Given the description of an element on the screen output the (x, y) to click on. 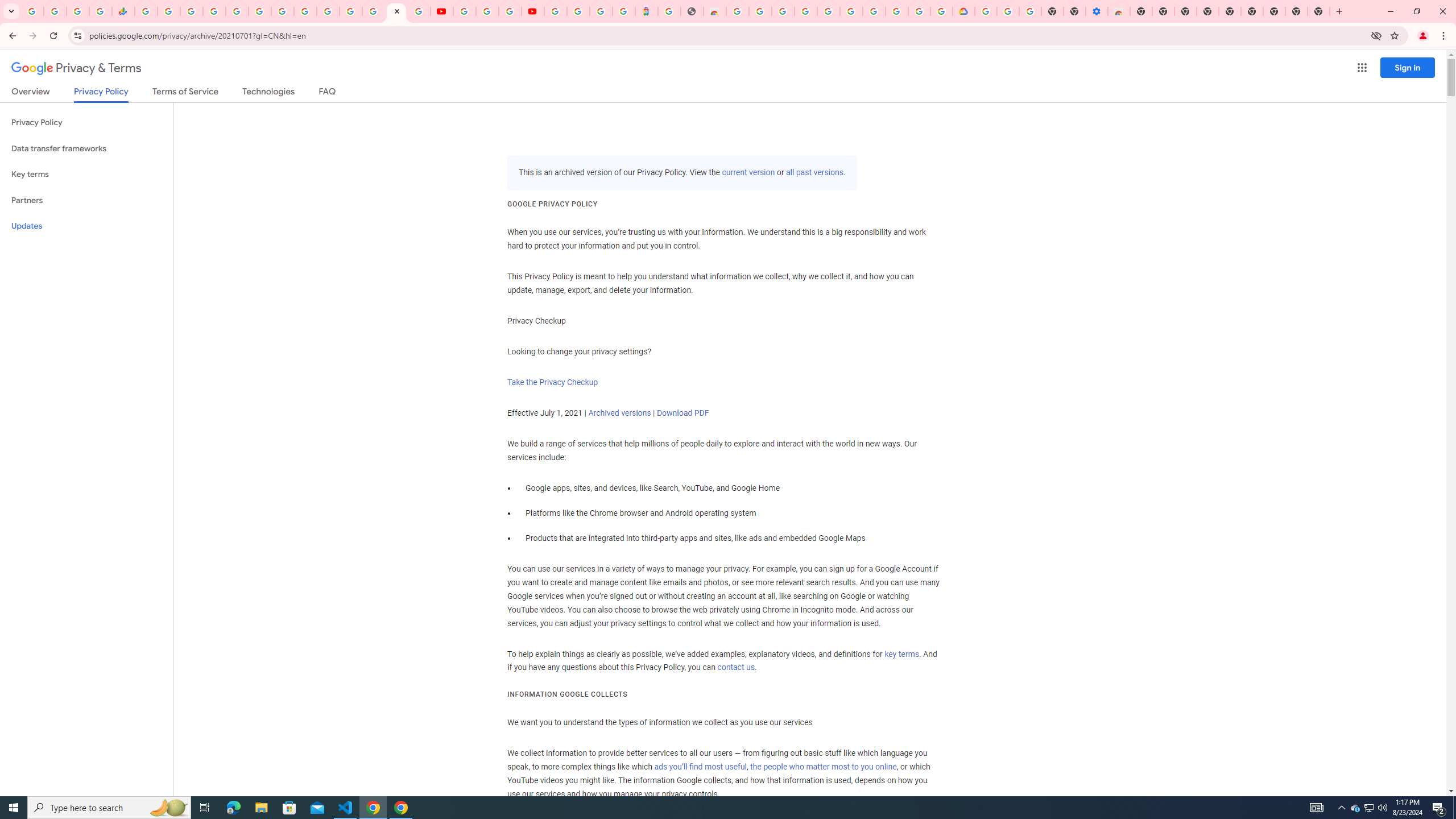
New Tab (1141, 11)
Settings - Accessibility (1096, 11)
the people who matter most to you online (822, 766)
Turn cookies on or off - Computer - Google Account Help (1029, 11)
